Given the description of an element on the screen output the (x, y) to click on. 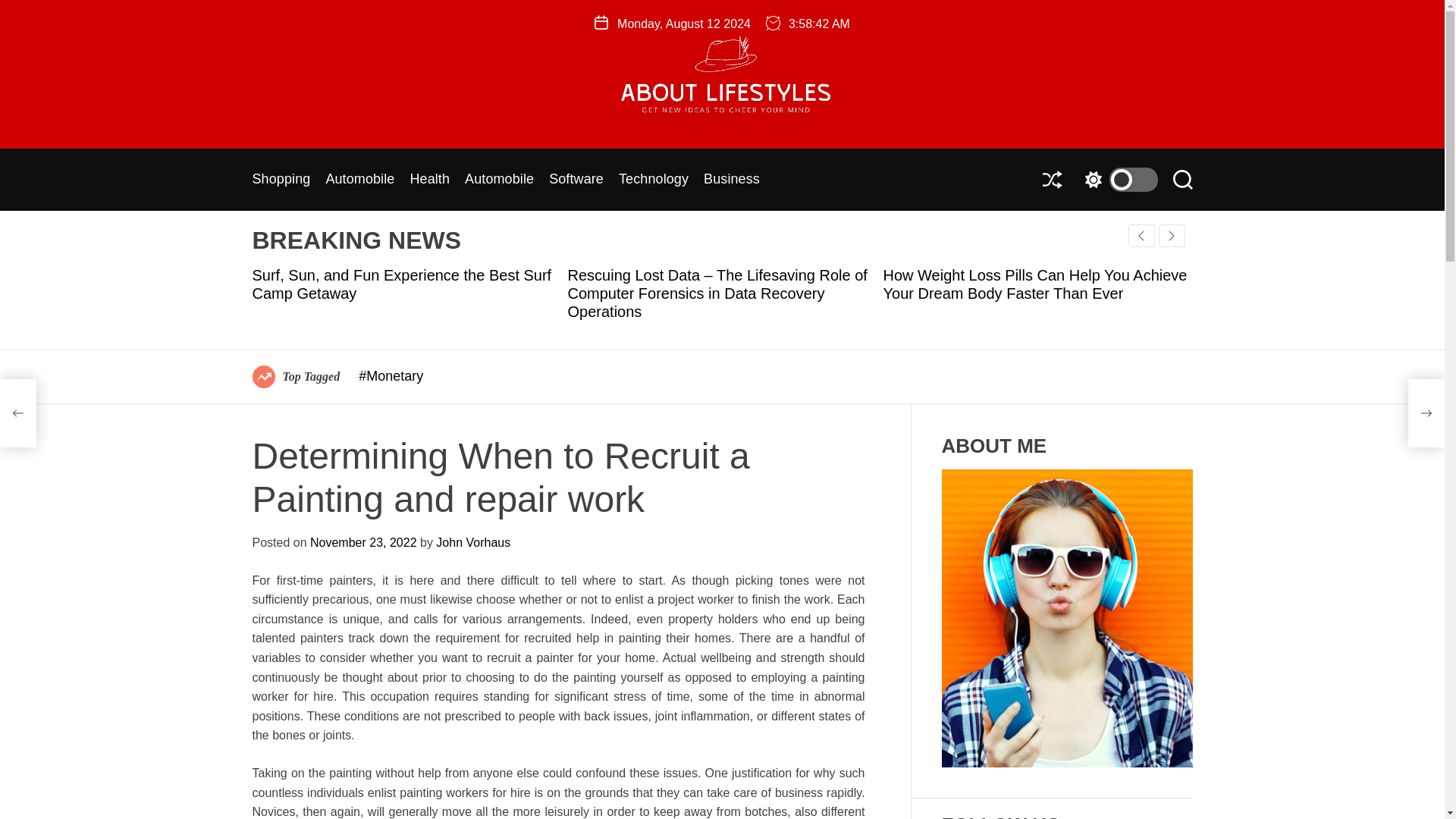
Technology (653, 179)
Switch color mode (1117, 179)
Software (576, 179)
Automobile (499, 179)
Surf, Sun, and Fun Experience the Best Surf Camp Getaway (401, 284)
Automobile (359, 179)
John Vorhaus (473, 542)
November 23, 2022 (363, 542)
Shopping (280, 179)
